Given the description of an element on the screen output the (x, y) to click on. 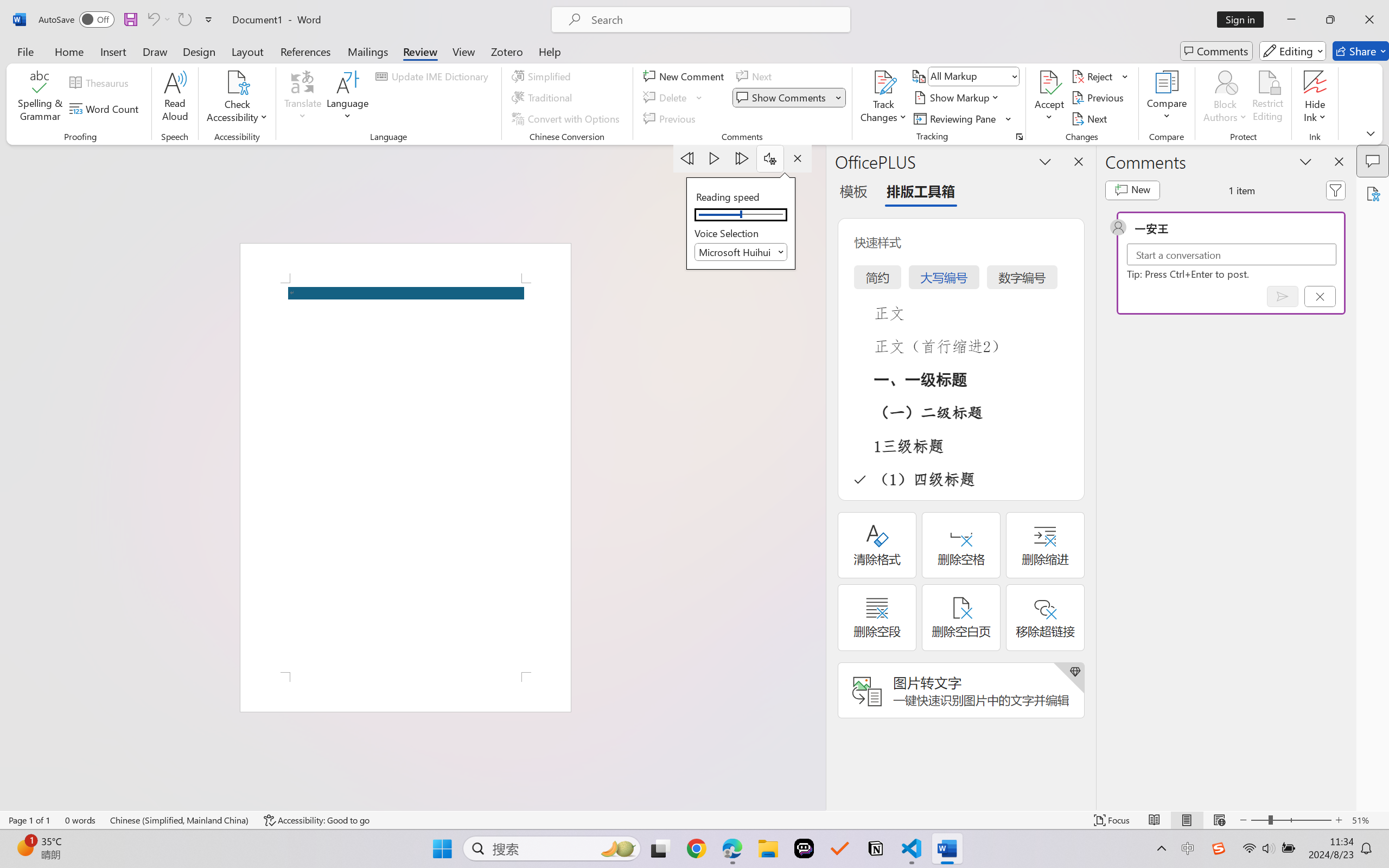
Word Count (105, 108)
Compare (1166, 97)
Reviewing Pane (955, 118)
Start a conversation (1231, 254)
Page right (765, 214)
